Given the description of an element on the screen output the (x, y) to click on. 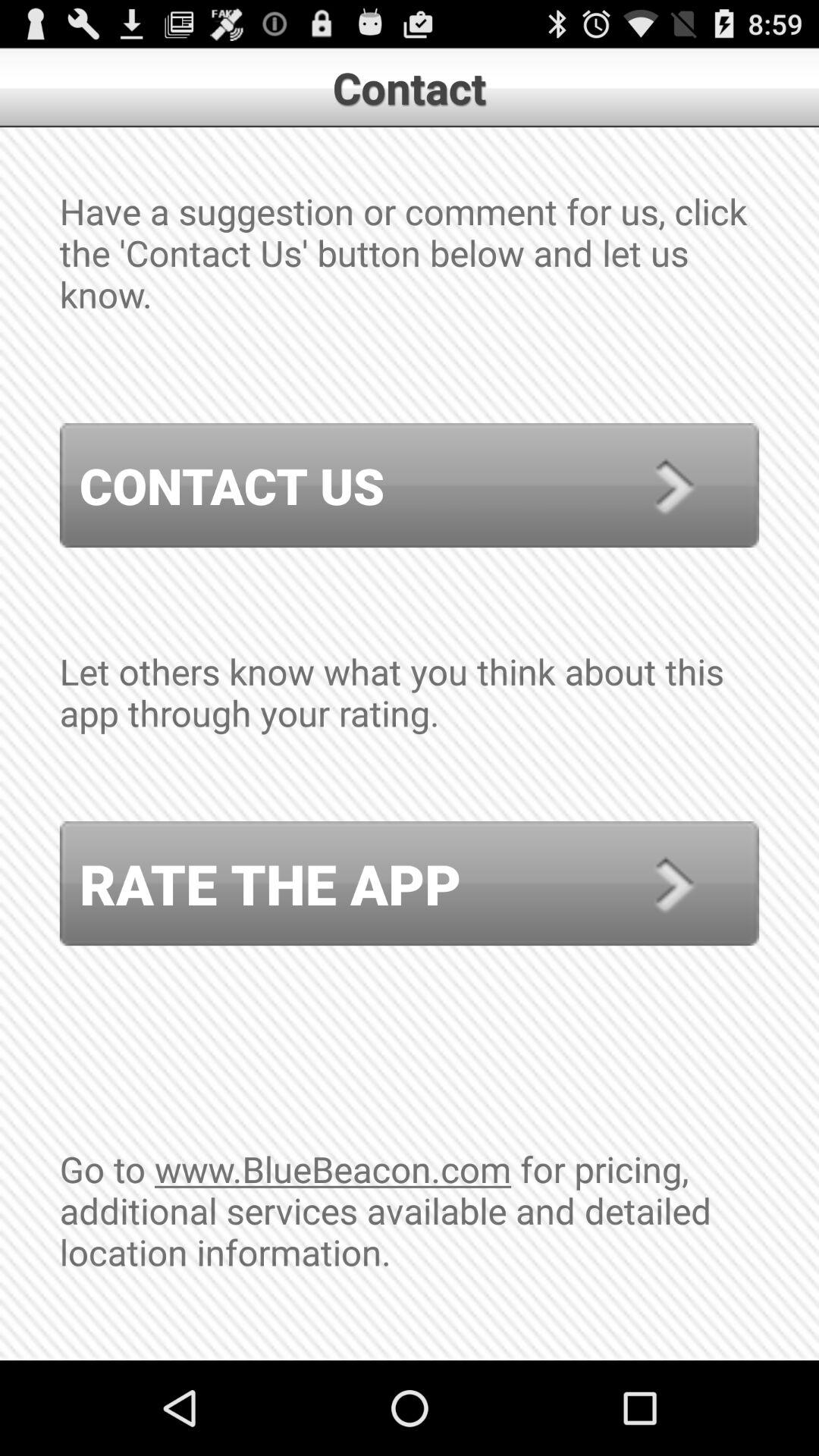
jump until the go to www item (409, 1252)
